Given the description of an element on the screen output the (x, y) to click on. 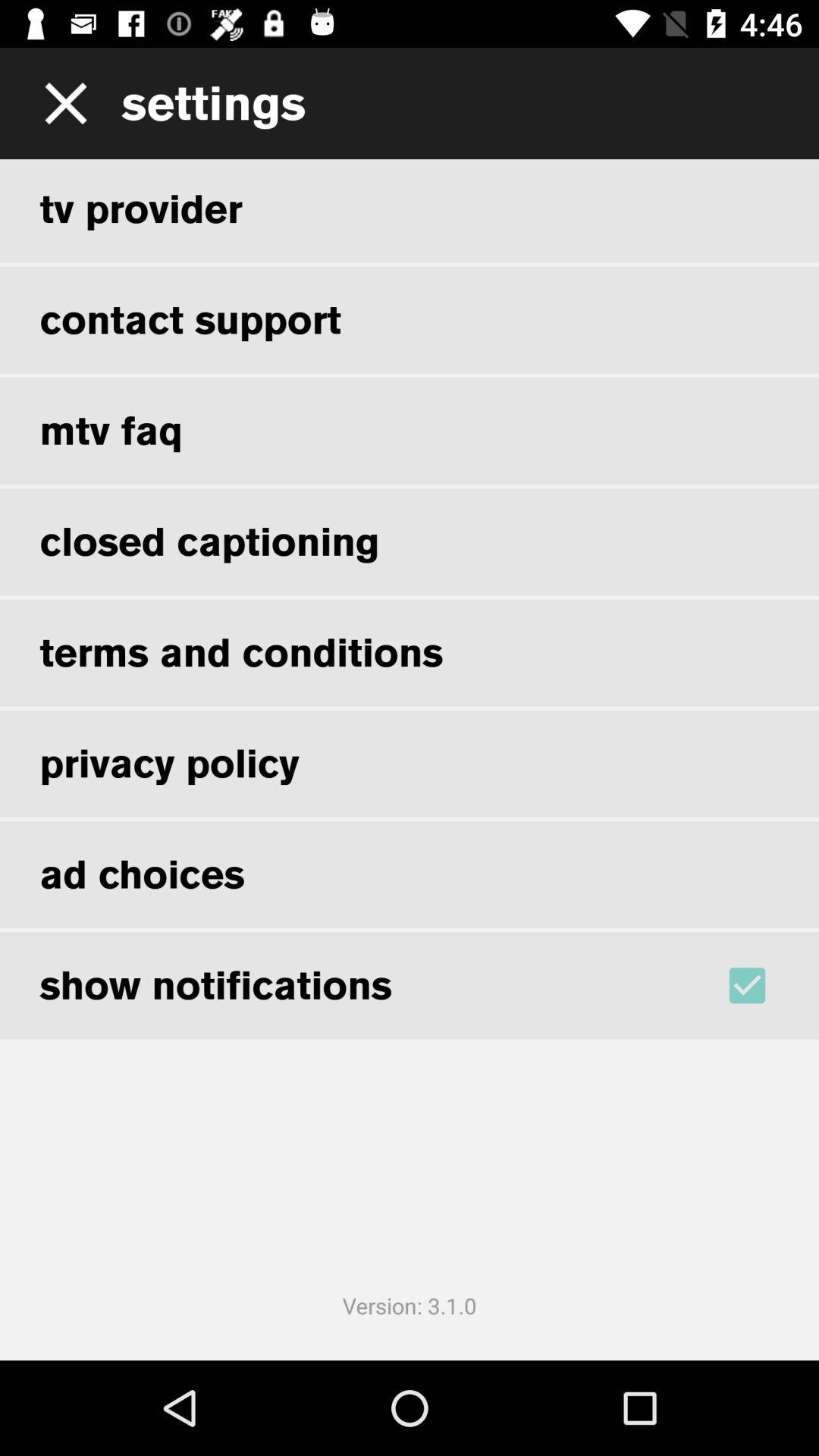
launch the icon to the left of settings (60, 103)
